Given the description of an element on the screen output the (x, y) to click on. 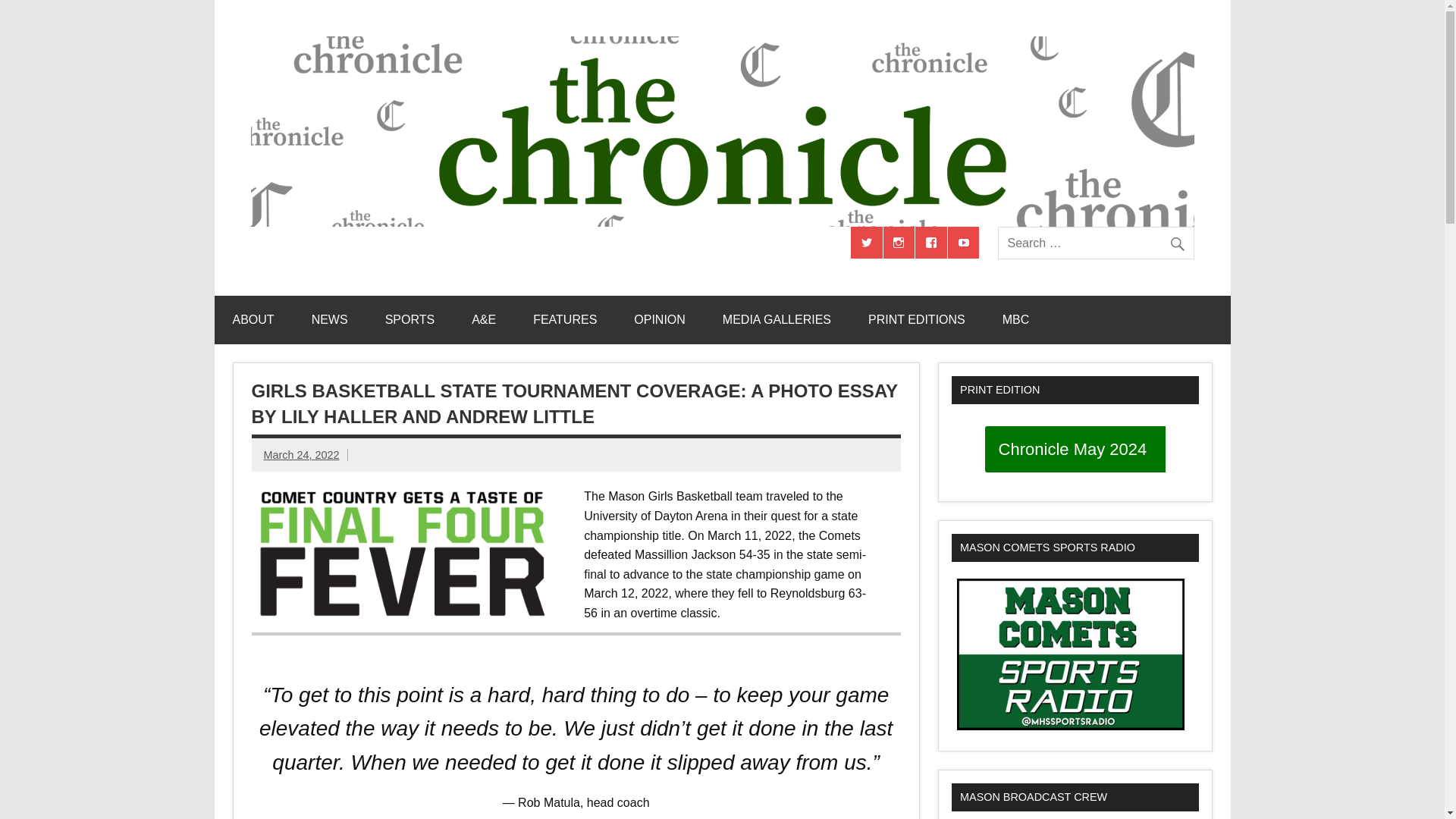
MHS Chronicle Online (409, 241)
NEWS (330, 319)
ABOUT (253, 319)
FEATURES (564, 319)
Facebook (931, 242)
MBC (1016, 319)
March 24, 2022 (301, 454)
PRINT EDITIONS (917, 319)
7:45 am (301, 454)
OPINION (659, 319)
MEDIA GALLERIES (776, 319)
SPORTS (409, 319)
Instagram (899, 242)
